Given the description of an element on the screen output the (x, y) to click on. 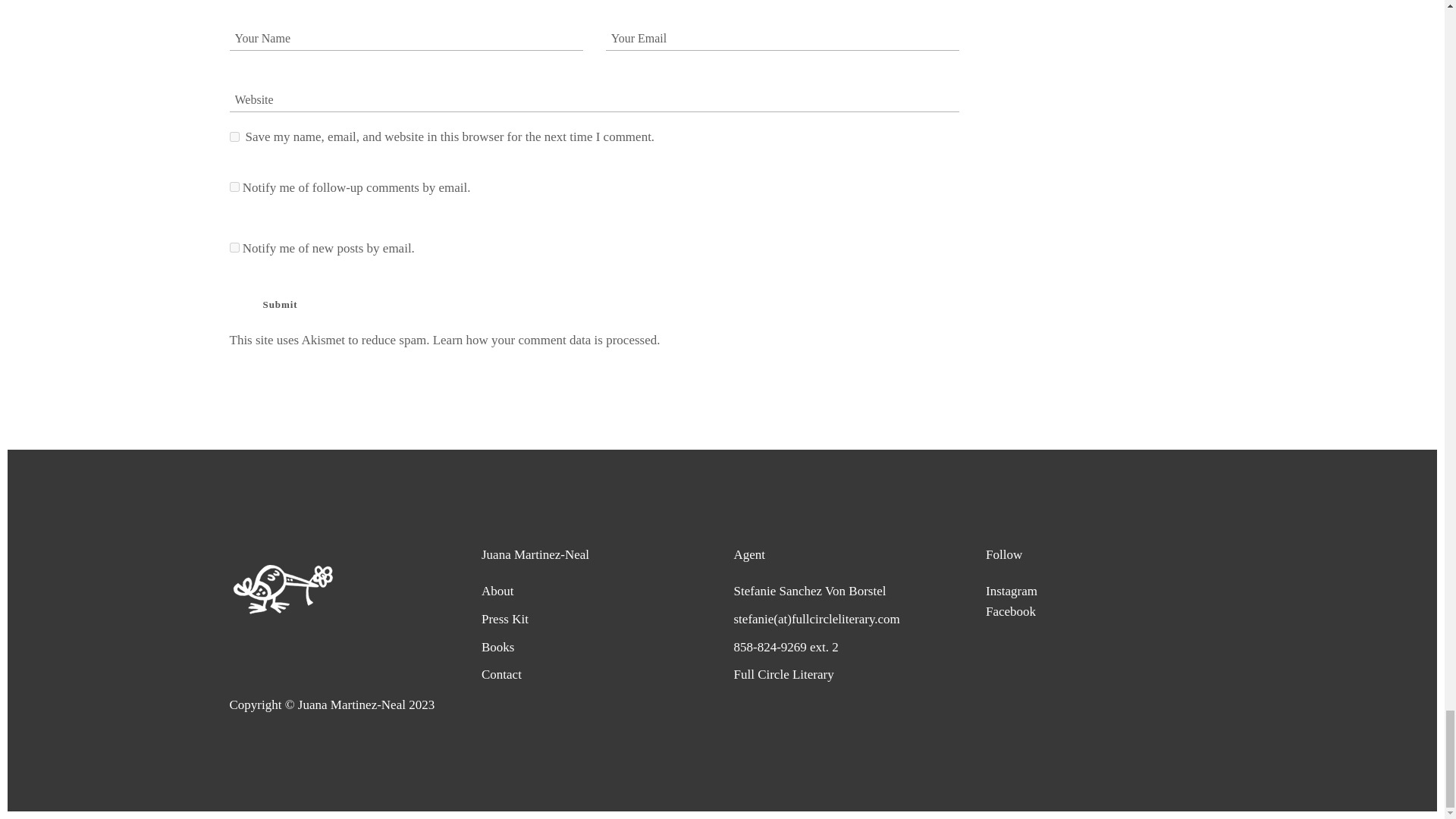
yes (233, 136)
subscribe (233, 186)
subscribe (233, 247)
